Given the description of an element on the screen output the (x, y) to click on. 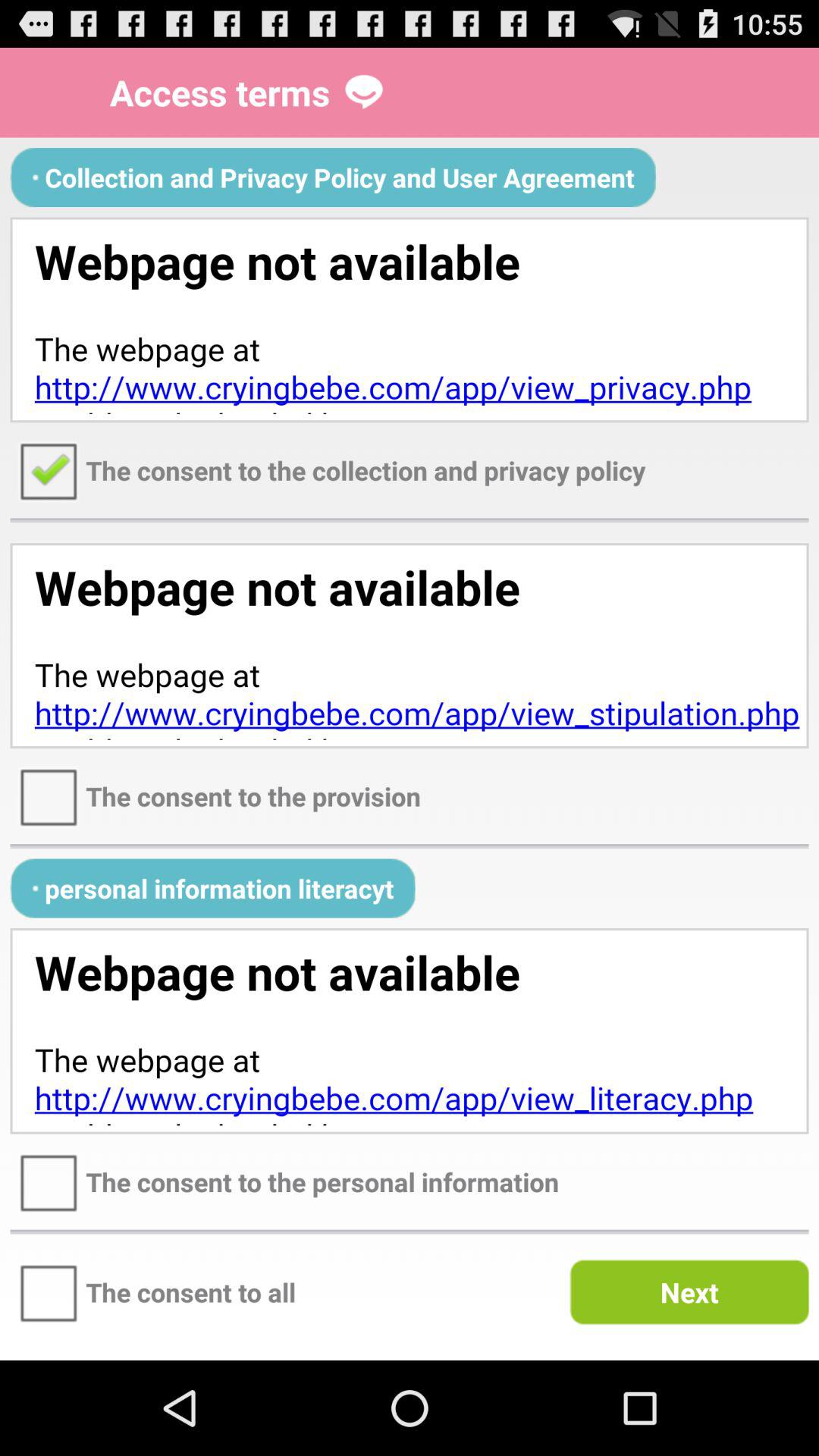
result option (409, 1030)
